Given the description of an element on the screen output the (x, y) to click on. 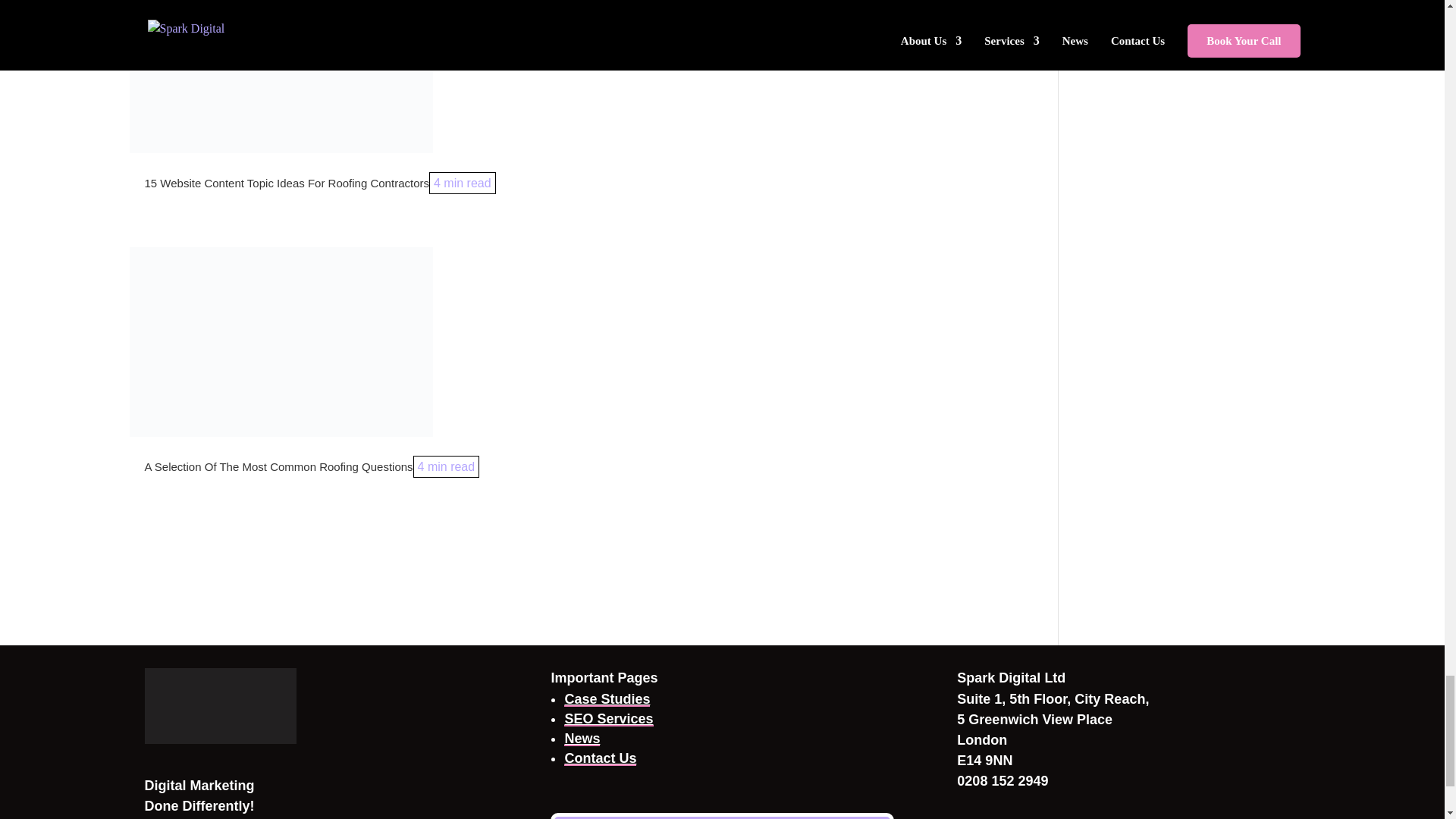
Local SEO From Spark Digital (608, 718)
Contact Spark Digital (600, 758)
Spark Digital Case Studies (606, 698)
Spark Digital Logo (219, 705)
